Given the description of an element on the screen output the (x, y) to click on. 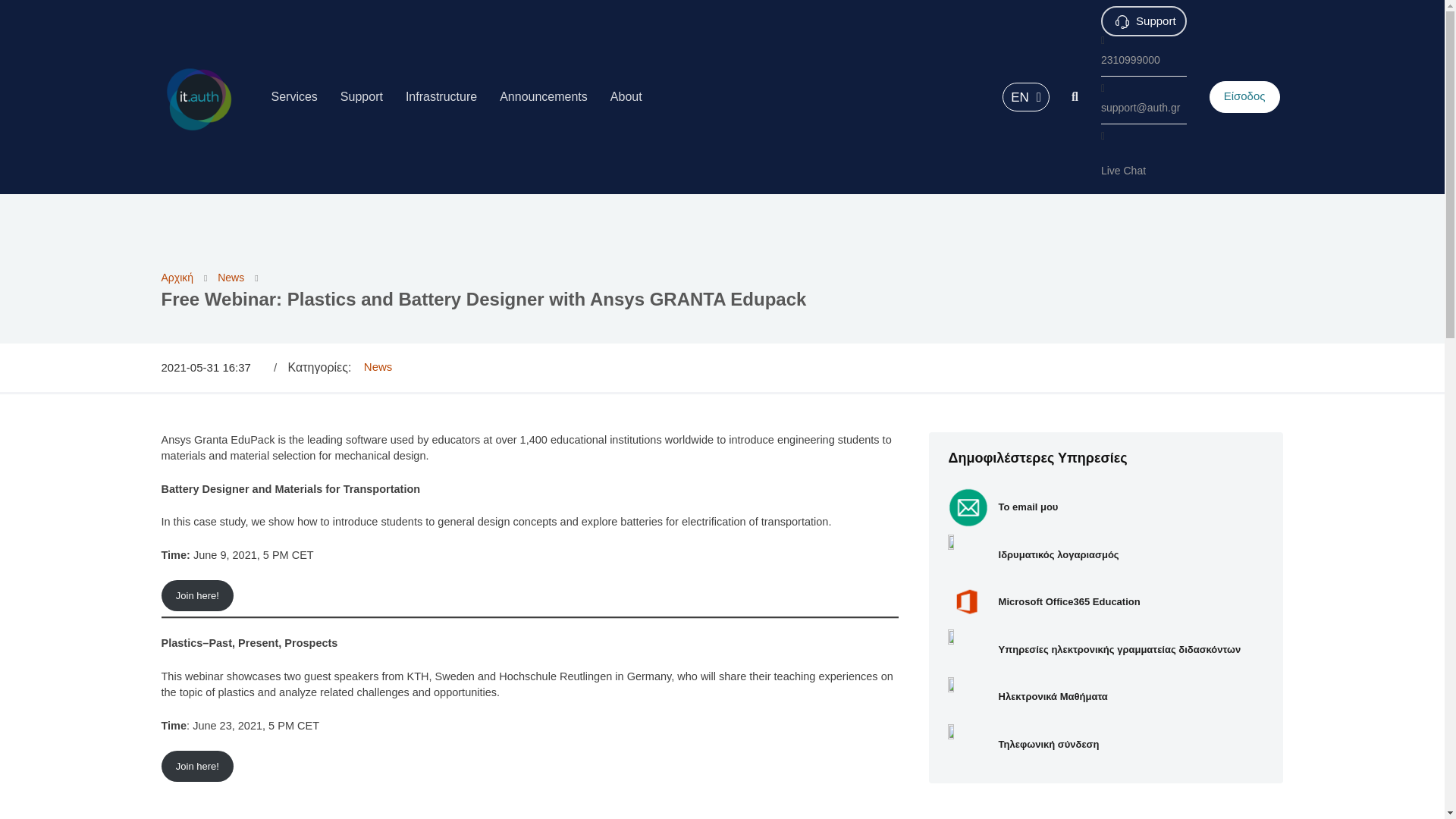
EN (1026, 96)
2310999000 (1143, 60)
Live Chat (1143, 170)
Go to the News Category archives. (230, 277)
Announcements (542, 96)
Services (294, 96)
Support (361, 96)
Infrastructure (440, 96)
About (625, 96)
